Given the description of an element on the screen output the (x, y) to click on. 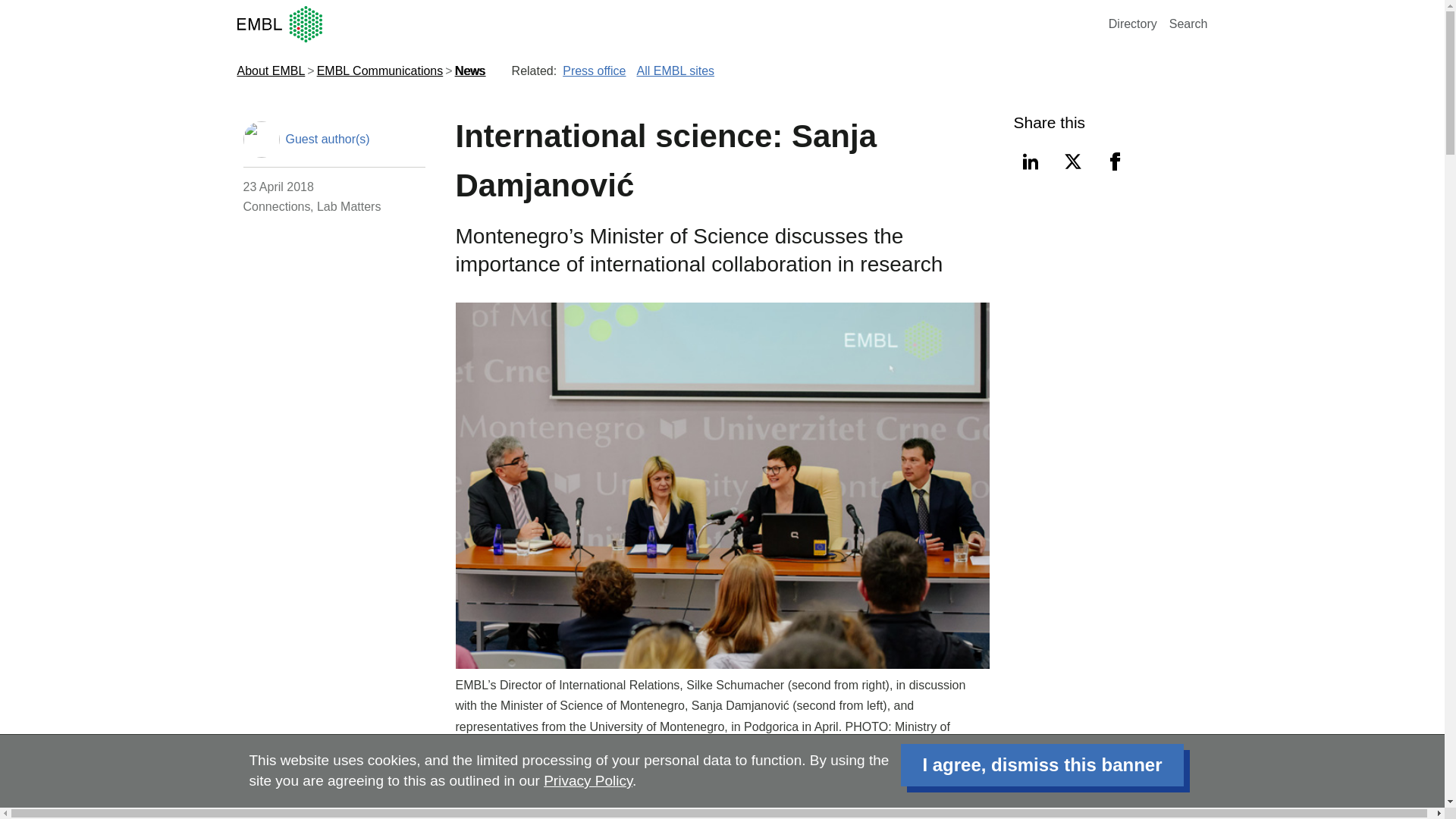
linkedin (1029, 161)
News (469, 70)
About EMBL (269, 70)
Privacy Policy (587, 780)
Connections (276, 205)
facebook (1114, 161)
All EMBL sites (675, 70)
twitter (1072, 161)
Search (1188, 23)
I agree, dismiss this banner (1041, 764)
Lab Matters (348, 205)
Press office (594, 70)
EMBL Communications (380, 70)
Directory (1132, 23)
European Molecular Biology Laboratory Home (668, 23)
